Given the description of an element on the screen output the (x, y) to click on. 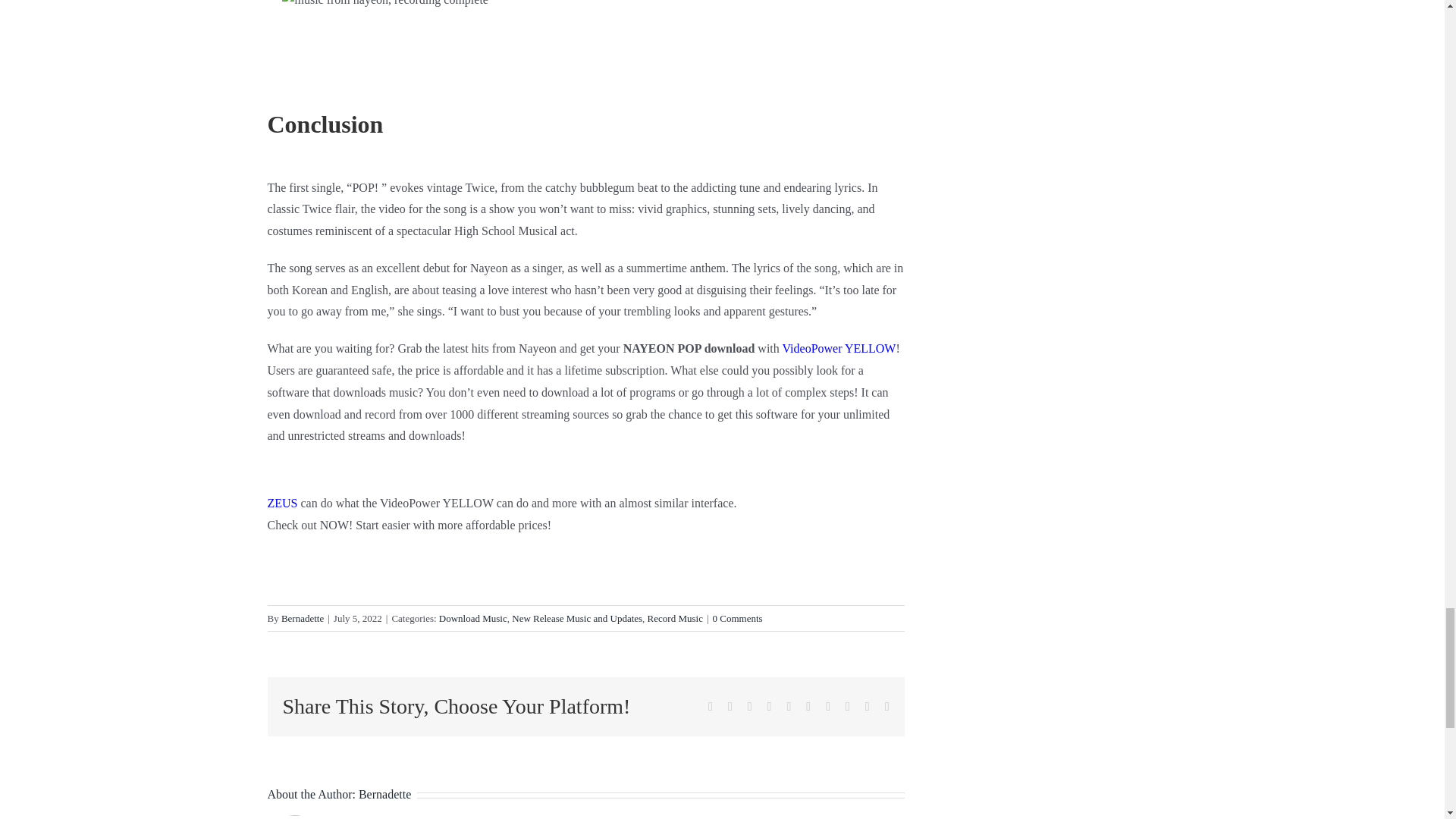
Posts by Bernadette (384, 793)
Twitter (730, 706)
LinkedIn (769, 706)
Posts by Bernadette (302, 618)
Tumblr (808, 706)
Pinterest (827, 706)
Email (887, 706)
Vk (847, 706)
Xing (866, 706)
WhatsApp (788, 706)
Facebook (710, 706)
Reddit (750, 706)
